Given the description of an element on the screen output the (x, y) to click on. 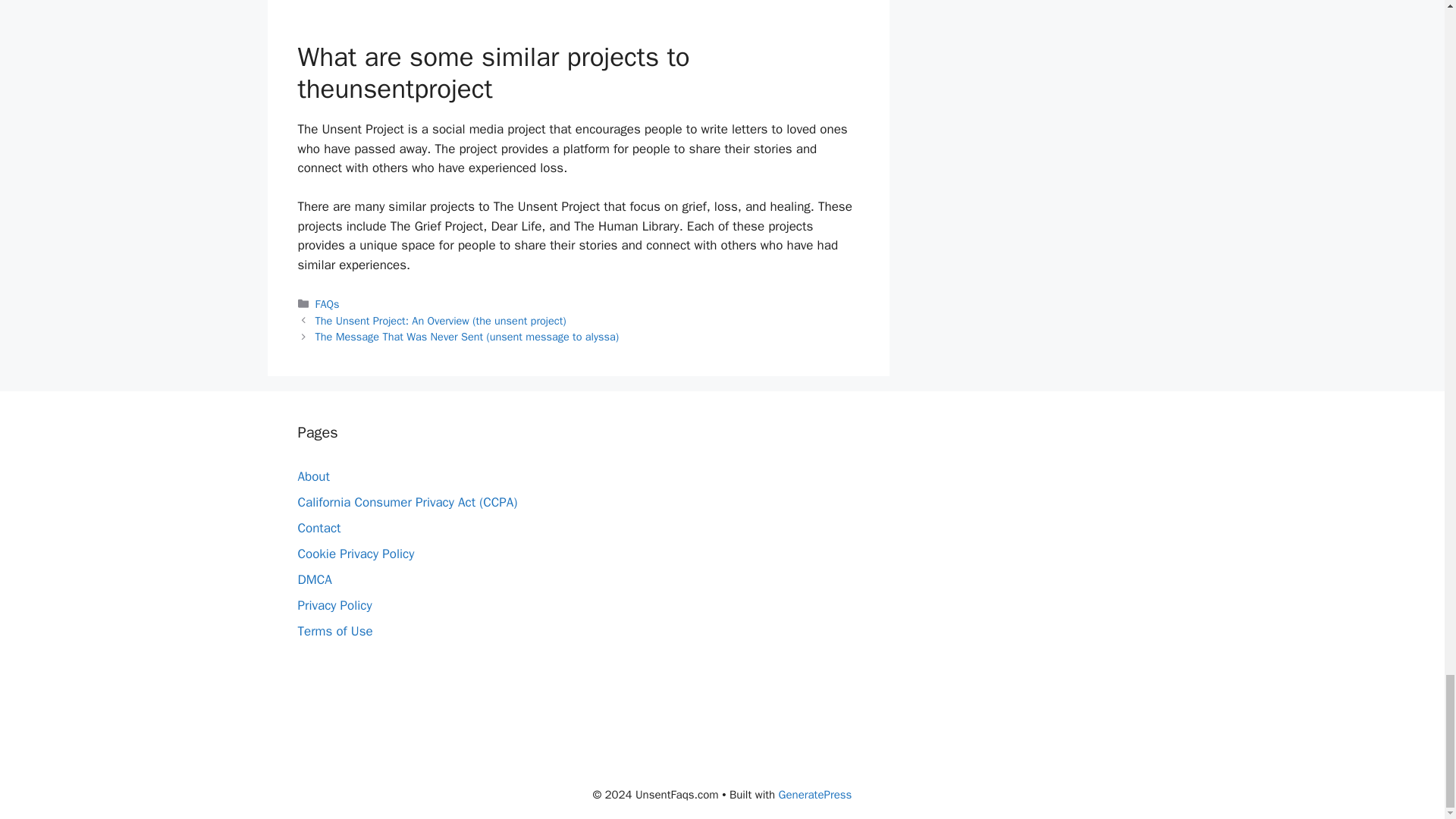
FAQs (327, 304)
Next (467, 336)
Previous (440, 320)
